Given the description of an element on the screen output the (x, y) to click on. 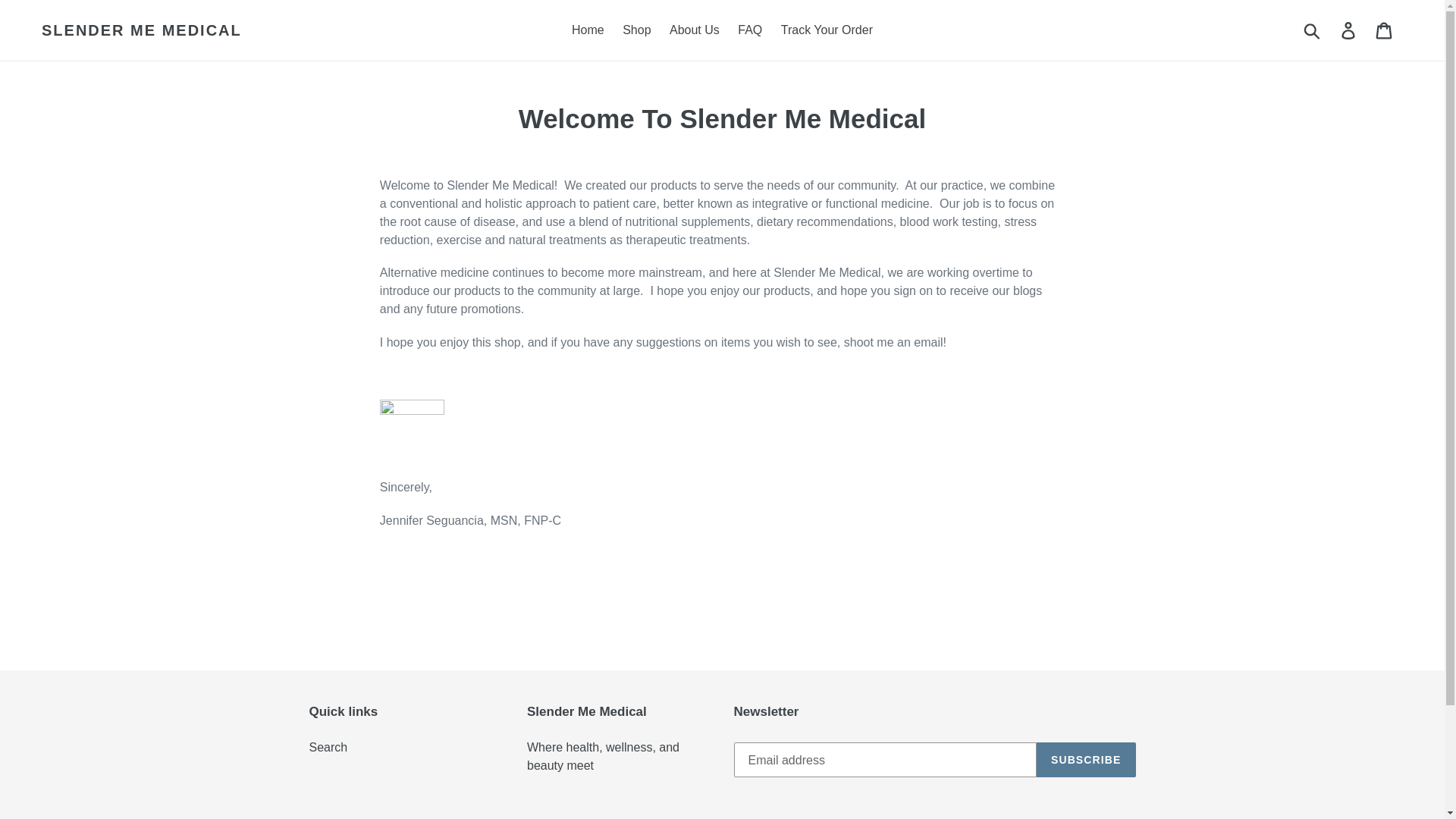
Log in (1349, 29)
Cart (1385, 29)
Home (587, 29)
Search (327, 747)
FAQ (750, 29)
SLENDER ME MEDICAL (141, 30)
SUBSCRIBE (1085, 759)
Track Your Order (826, 29)
Shop (636, 29)
About Us (694, 29)
